Given the description of an element on the screen output the (x, y) to click on. 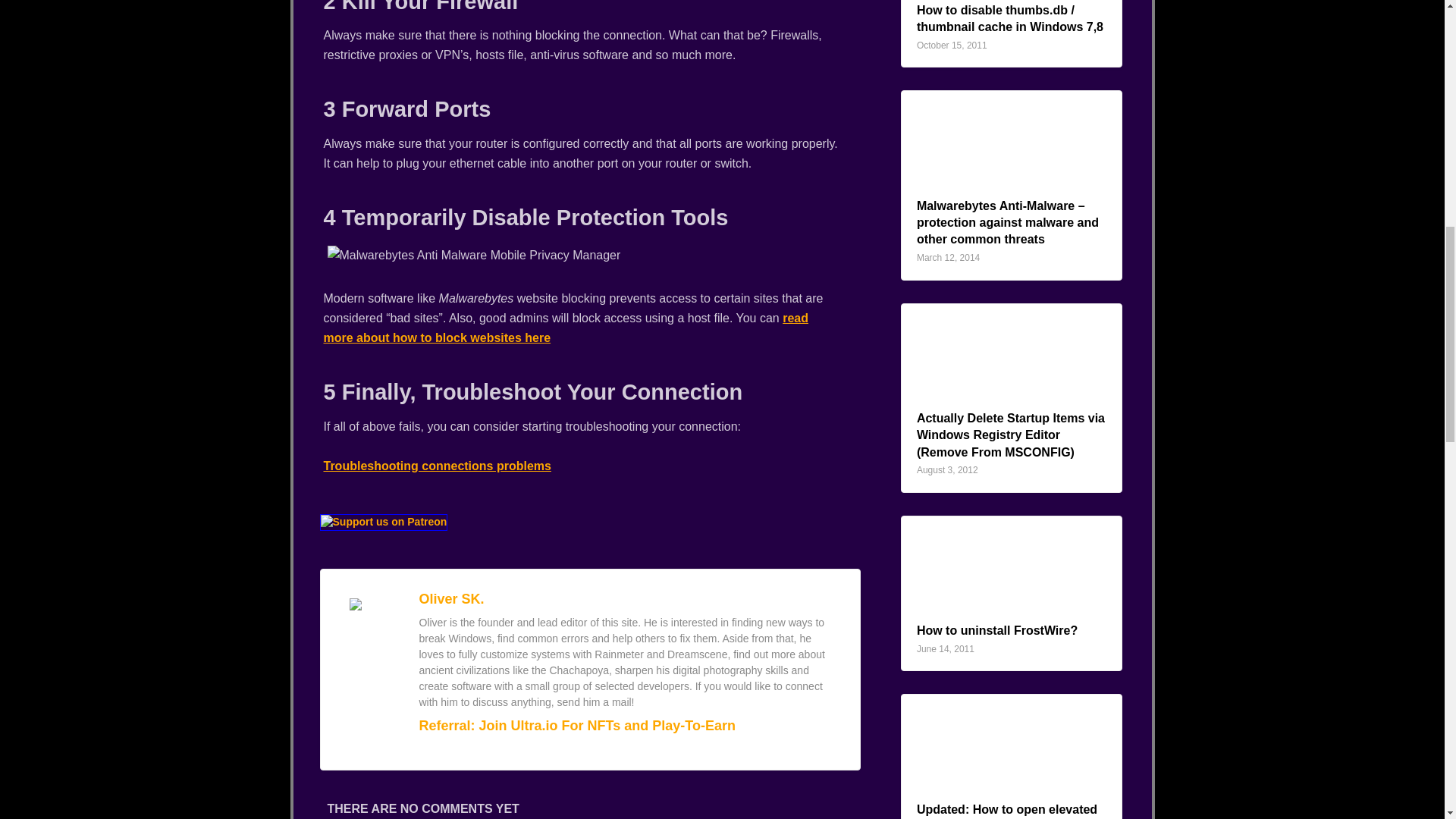
March 12, 2014 (948, 257)
Referral: Join Ultra.io For NFTs and Play-To-Earn (577, 725)
read more about how to block websites here (565, 327)
October 15, 2011 (952, 45)
Troubleshooting connections problems (436, 465)
How to uninstall FrostWire? (997, 630)
Oliver SK. (451, 598)
June 14, 2011 (945, 648)
August 3, 2012 (947, 470)
